Given the description of an element on the screen output the (x, y) to click on. 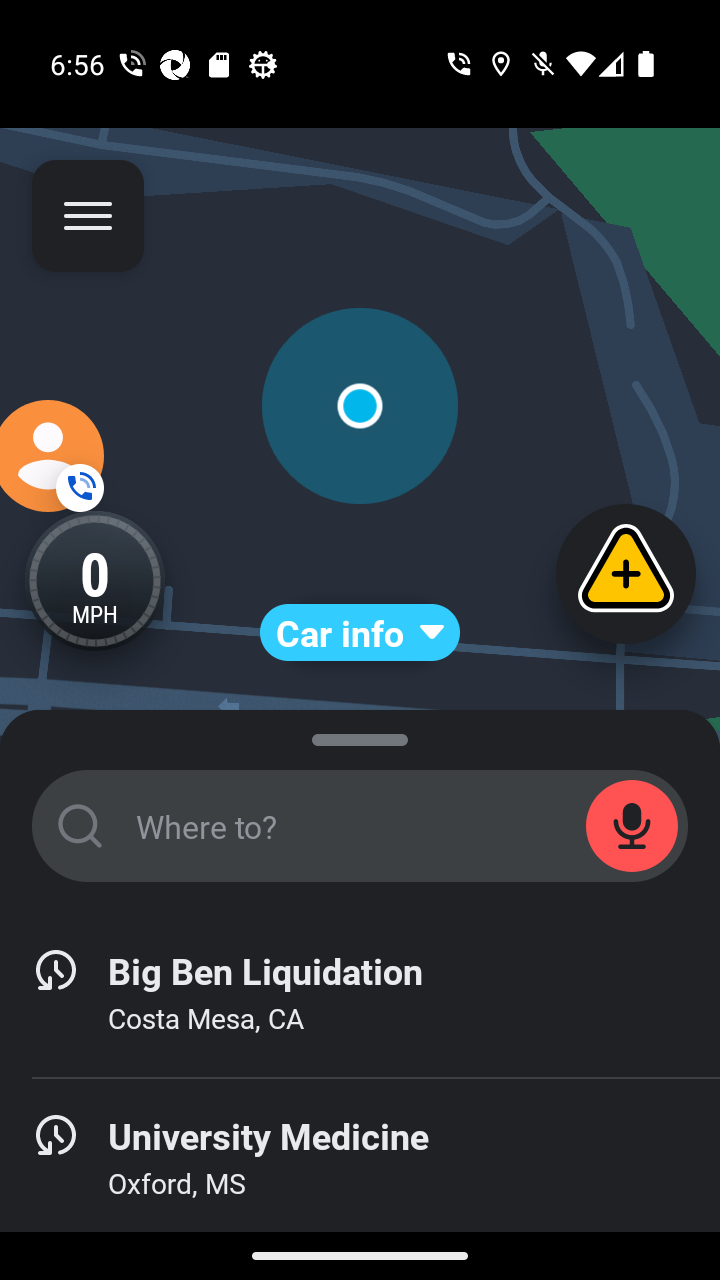
Car info (359, 632)
SUGGESTIONS_SHEET_DRAG_HANDLE (359, 735)
START_STATE_SEARCH_FIELD Where to? (359, 825)
Big Ben Liquidation Costa Mesa, CA (360, 994)
University Medicine Oxford, MS (360, 1160)
